Given the description of an element on the screen output the (x, y) to click on. 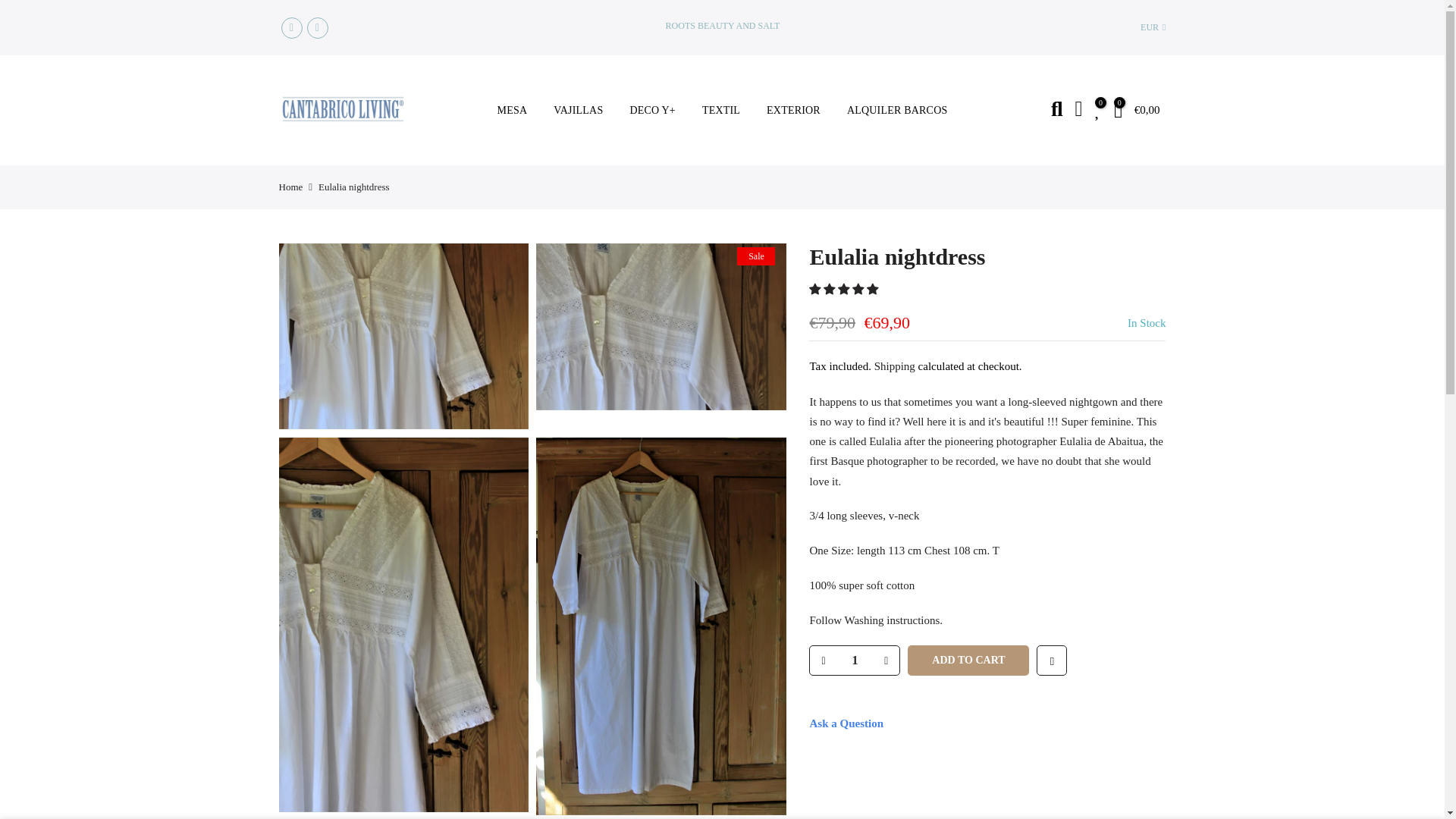
Ask a Question (846, 723)
Home (290, 186)
Shipping (895, 366)
ALQUILER BARCOS (896, 110)
1 (854, 660)
ADD TO CART (968, 660)
